Given the description of an element on the screen output the (x, y) to click on. 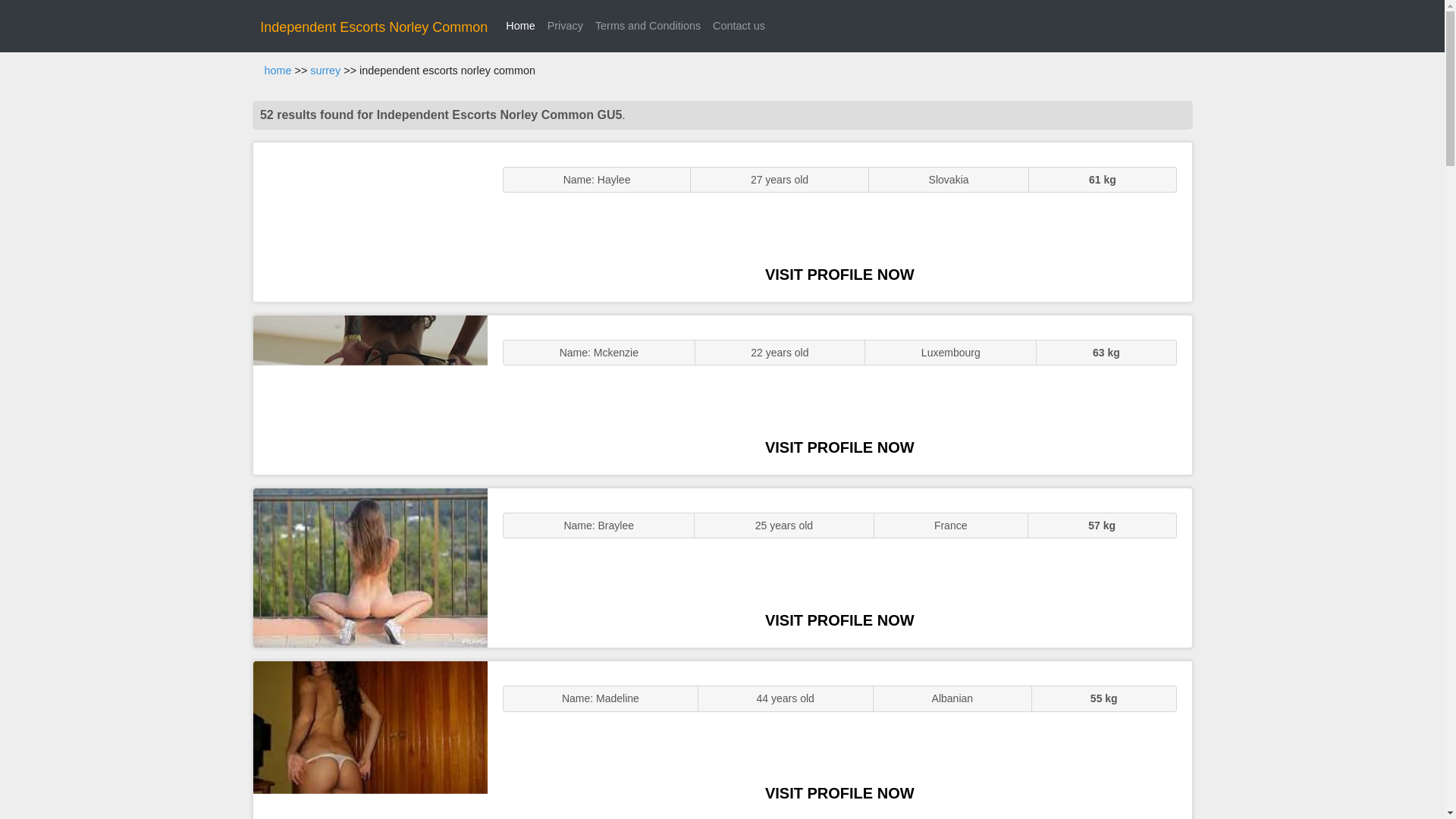
surrey (325, 70)
VISIT PROFILE NOW (839, 274)
GFE (370, 395)
Contact us (738, 25)
Privacy (565, 25)
VISIT PROFILE NOW (839, 792)
Independent Escorts Norley Common (373, 27)
VISIT PROFILE NOW (839, 619)
Sexy (370, 567)
Terms and Conditions (647, 25)
VISIT PROFILE NOW (839, 446)
Sluts (370, 739)
home (277, 70)
 ENGLISH STUNNER (370, 222)
